Given the description of an element on the screen output the (x, y) to click on. 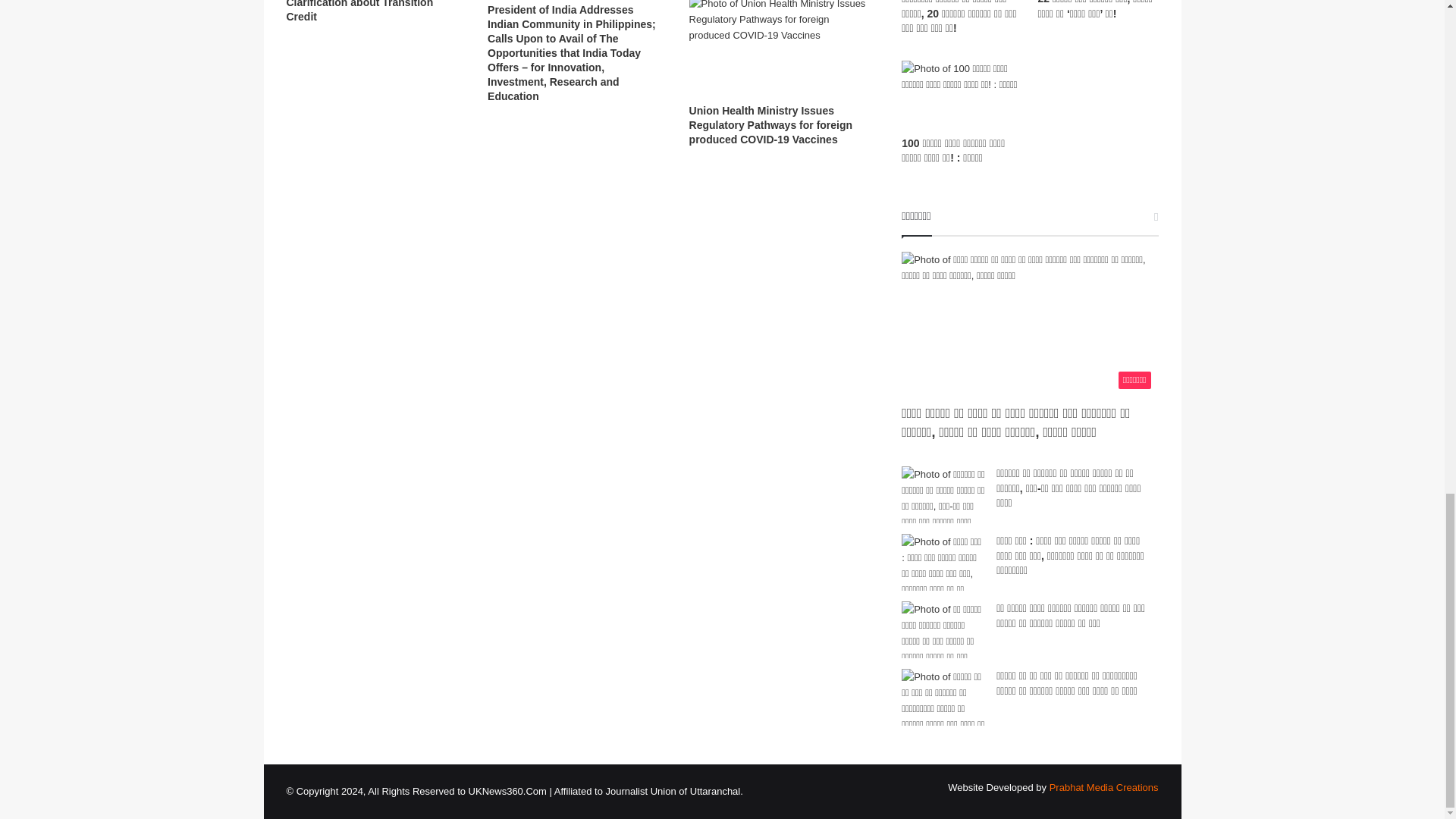
Clarification about Transition Credit (359, 11)
